Given the description of an element on the screen output the (x, y) to click on. 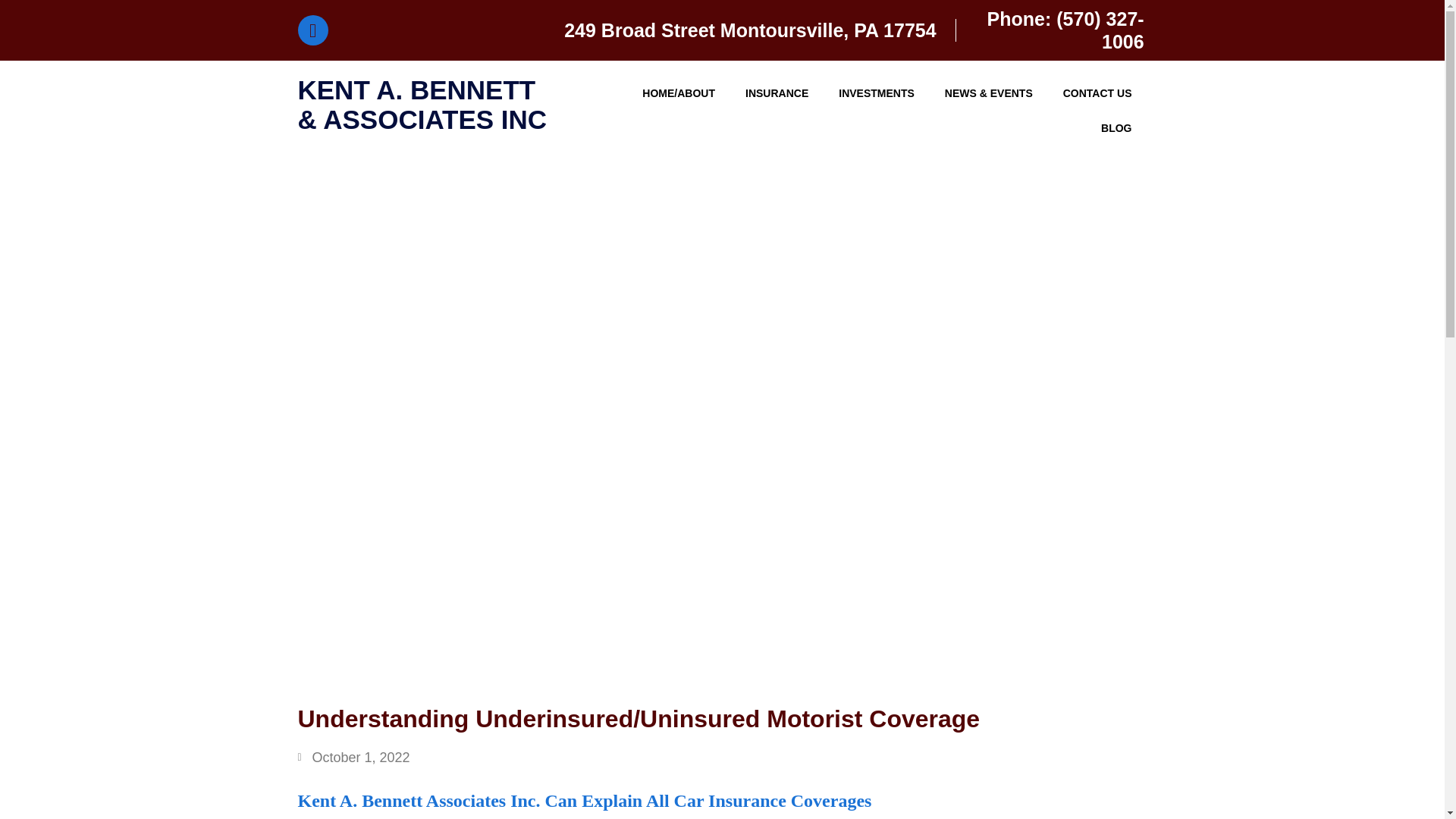
October 1, 2022 (353, 757)
BLOG (1116, 127)
CONTACT US (1097, 93)
INSURANCE (777, 93)
INVESTMENTS (877, 93)
